Given the description of an element on the screen output the (x, y) to click on. 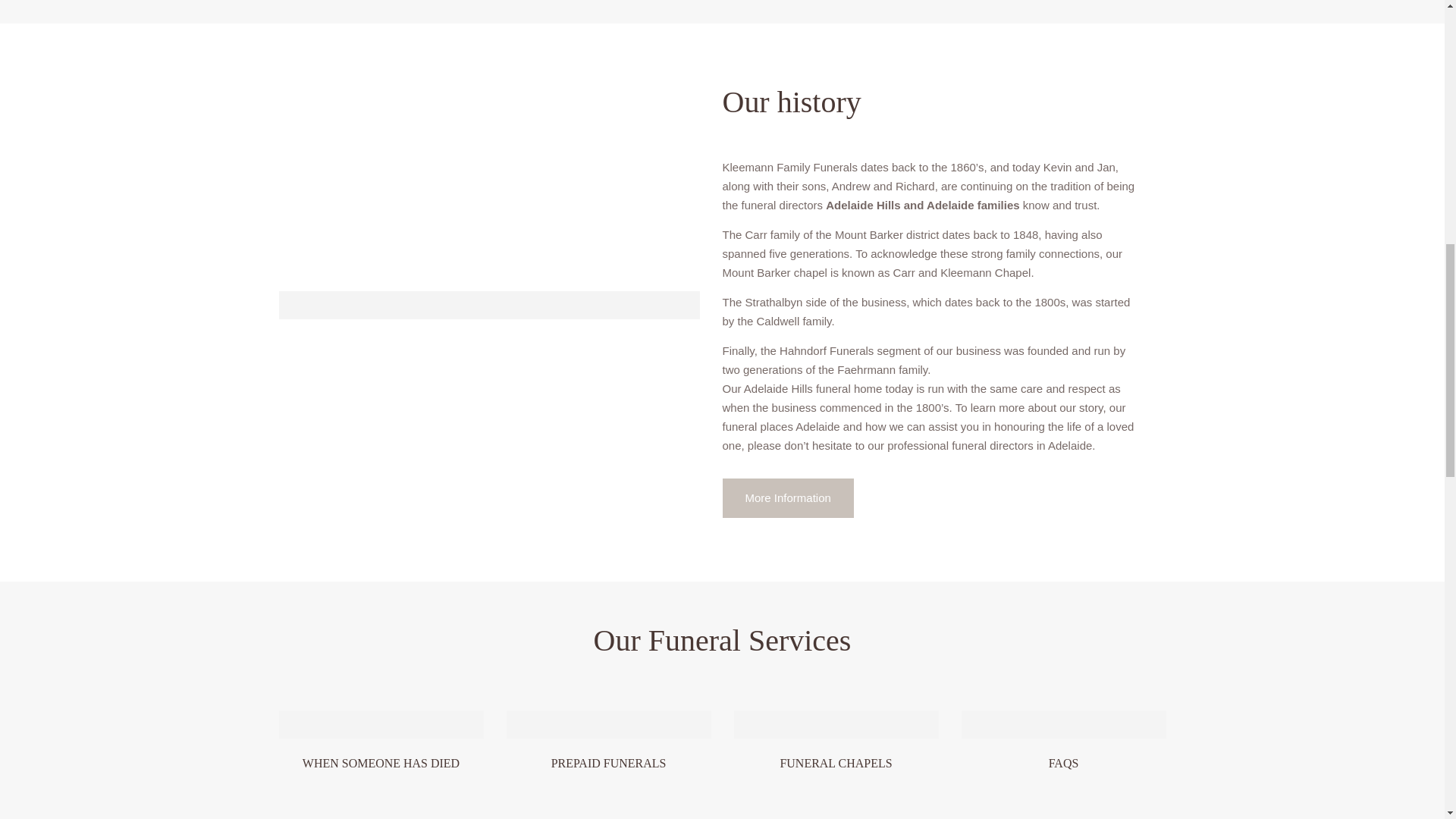
WHEN SOMEONE HAS DIED (392, 741)
More Information (787, 498)
WHEN SOMEONE HAS DIED (381, 762)
FAQS (1063, 762)
PREPAID FUNERALS (619, 741)
FUNERAL CHAPELS (846, 741)
PREPAID FUNERALS (608, 762)
FUNERAL CHAPELS (834, 762)
